Given the description of an element on the screen output the (x, y) to click on. 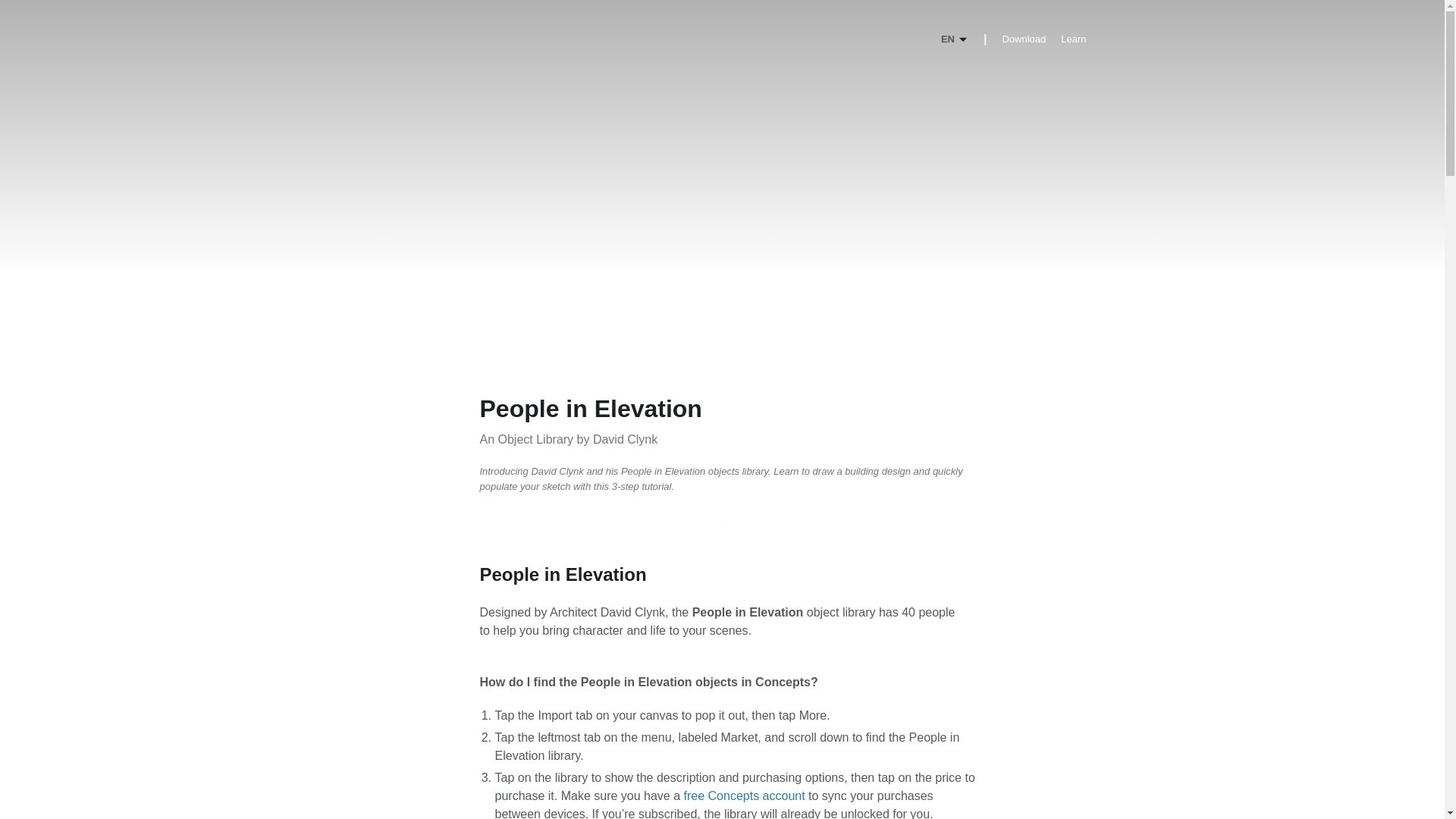
Download (1023, 38)
free Concepts account (744, 795)
Learn (1073, 38)
